Given the description of an element on the screen output the (x, y) to click on. 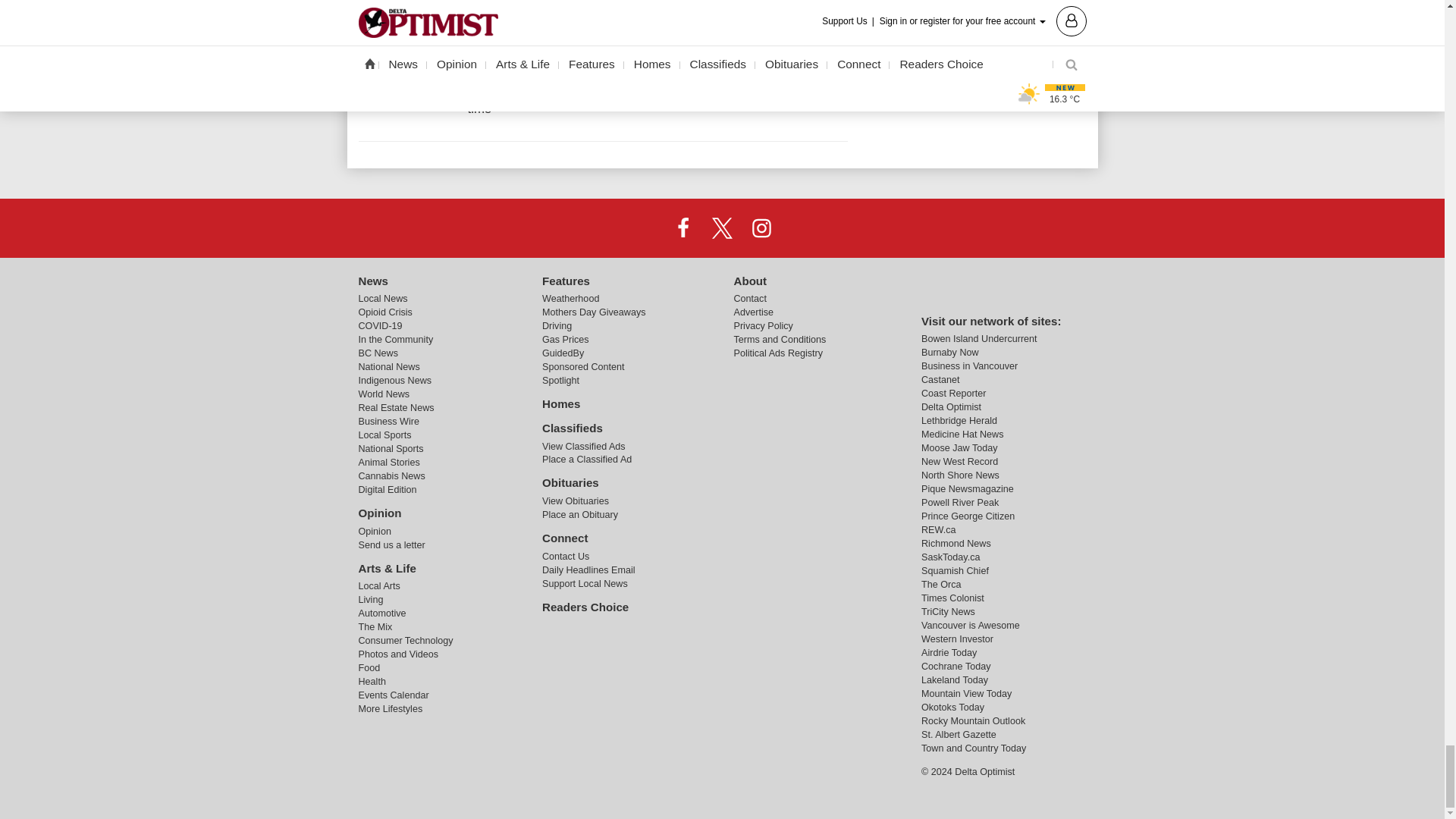
X (721, 226)
Facebook (683, 226)
Instagram (760, 226)
